Given the description of an element on the screen output the (x, y) to click on. 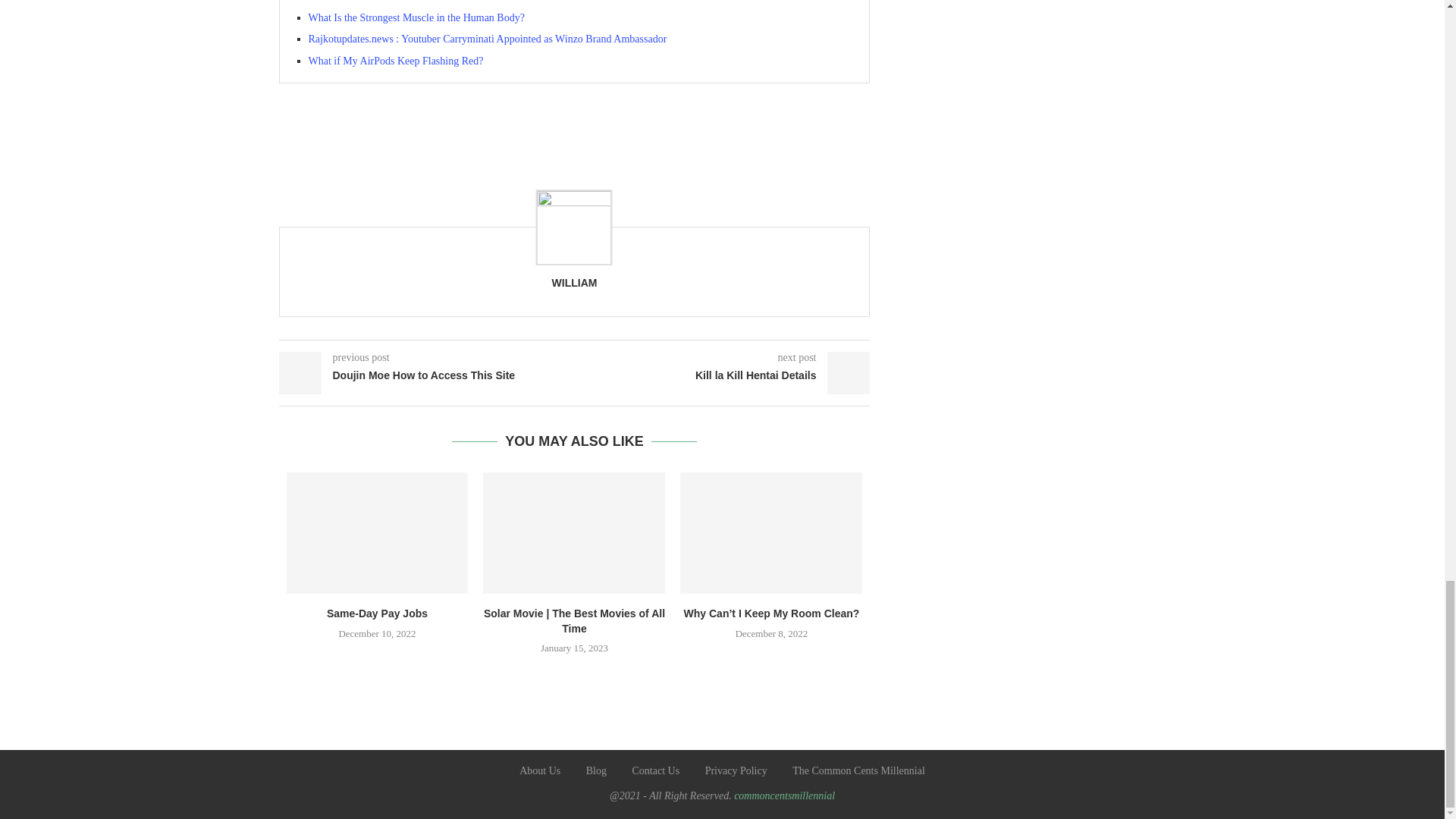
Same-Day Pay Jobs (377, 532)
Semi Permanent Hair Color (366, 1)
Author william (573, 282)
What if My AirPods Keep Flashing Red? (395, 60)
What Is the Strongest Muscle in the Human Body? (415, 17)
